Given the description of an element on the screen output the (x, y) to click on. 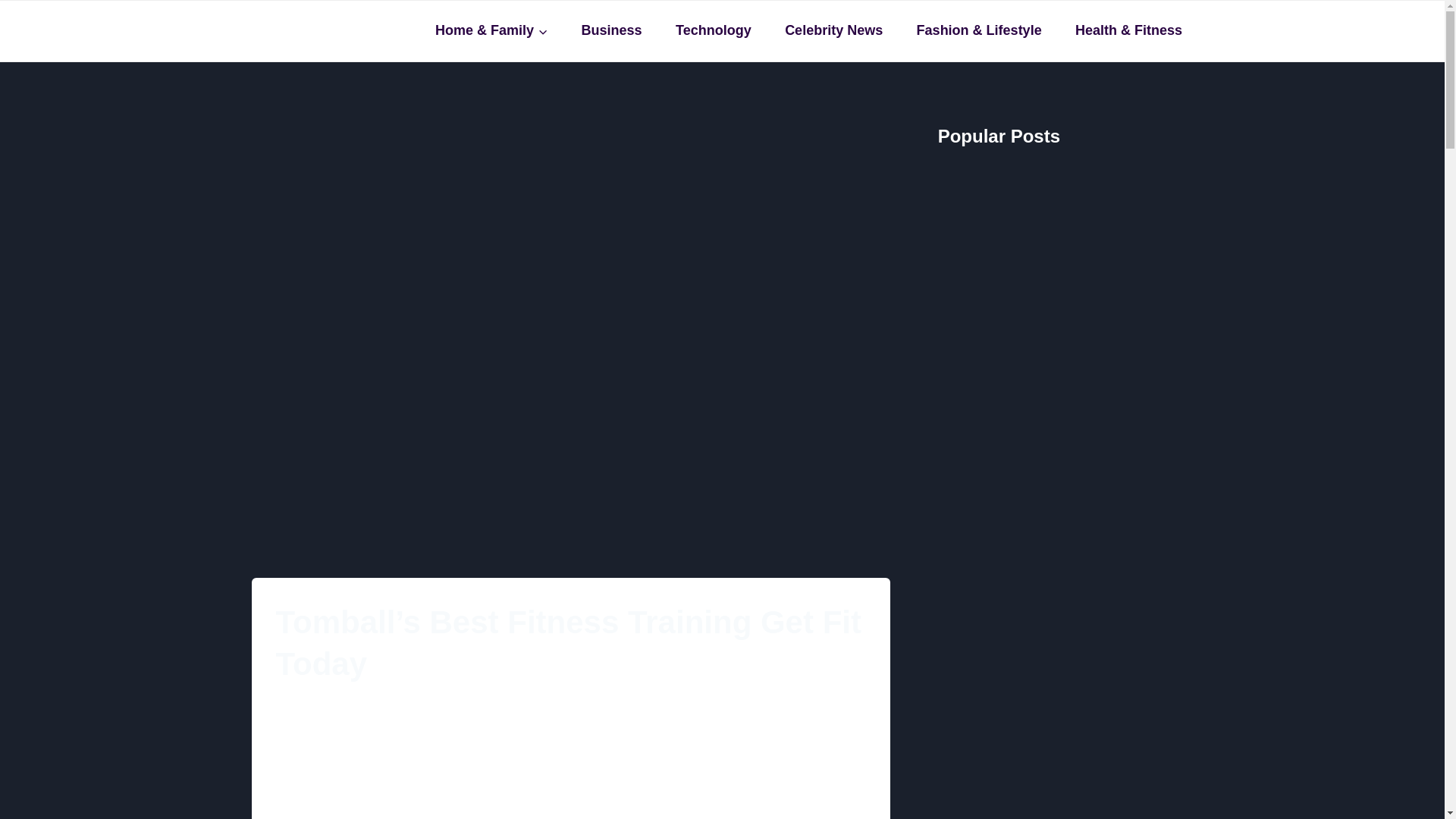
Business (611, 30)
Celebrity News (833, 30)
Technology (713, 30)
Tomball'S Best Fitness Training Get Fit Today (389, 764)
